Given the description of an element on the screen output the (x, y) to click on. 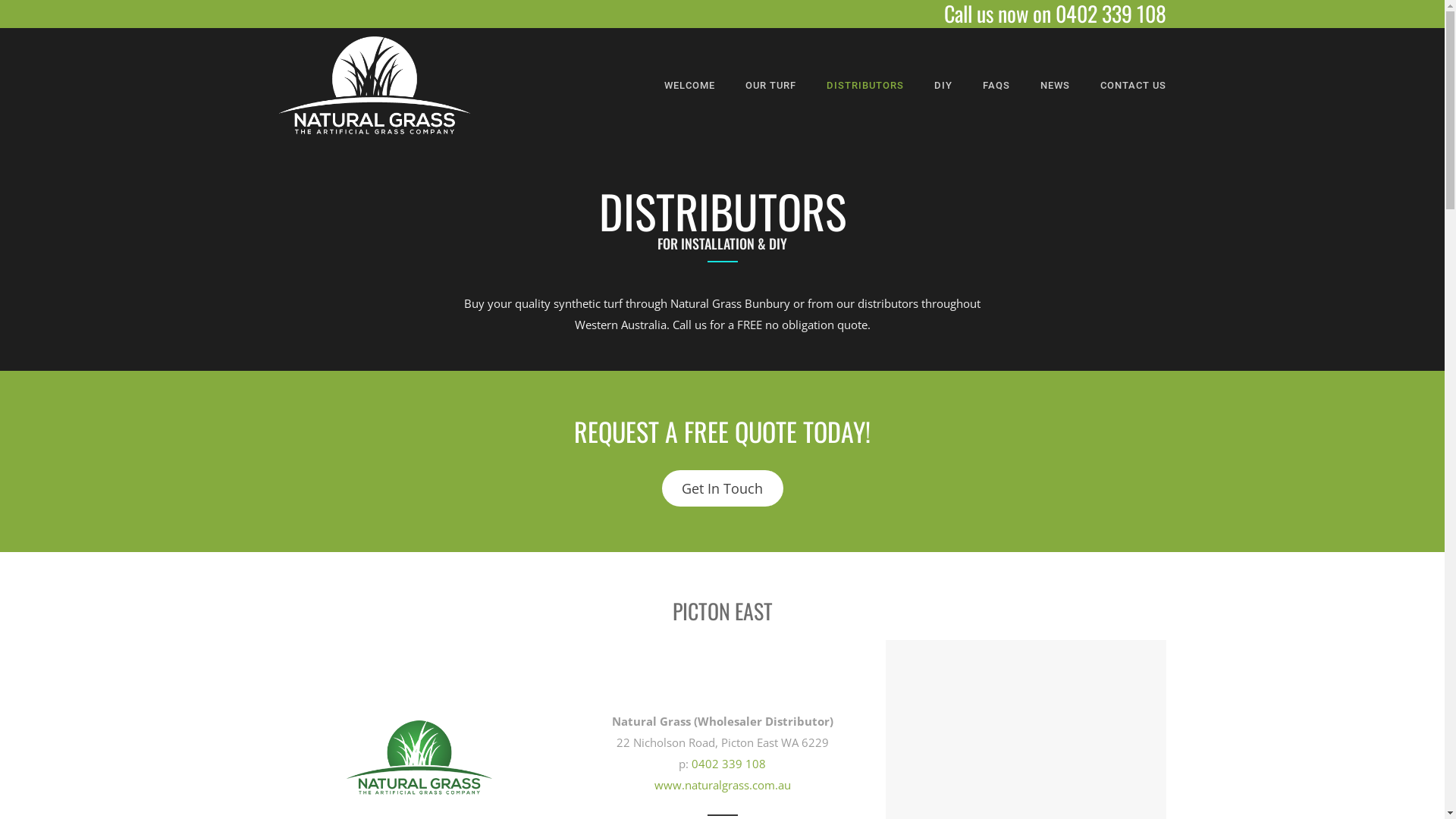
Natural Grass Element type: hover (374, 85)
FAQS Element type: text (996, 85)
DISTRIBUTORS Element type: text (865, 85)
OUR TURF Element type: text (769, 85)
0402 339 108 Element type: text (728, 763)
NEWS Element type: text (1055, 85)
www.naturalgrass.com.au Element type: text (721, 784)
DIY Element type: text (943, 85)
CONTACT US Element type: text (1124, 85)
Natural Grass - The artificial grass company logo Element type: hover (419, 757)
WELCOME Element type: text (689, 85)
Get In Touch Element type: text (721, 488)
